Given the description of an element on the screen output the (x, y) to click on. 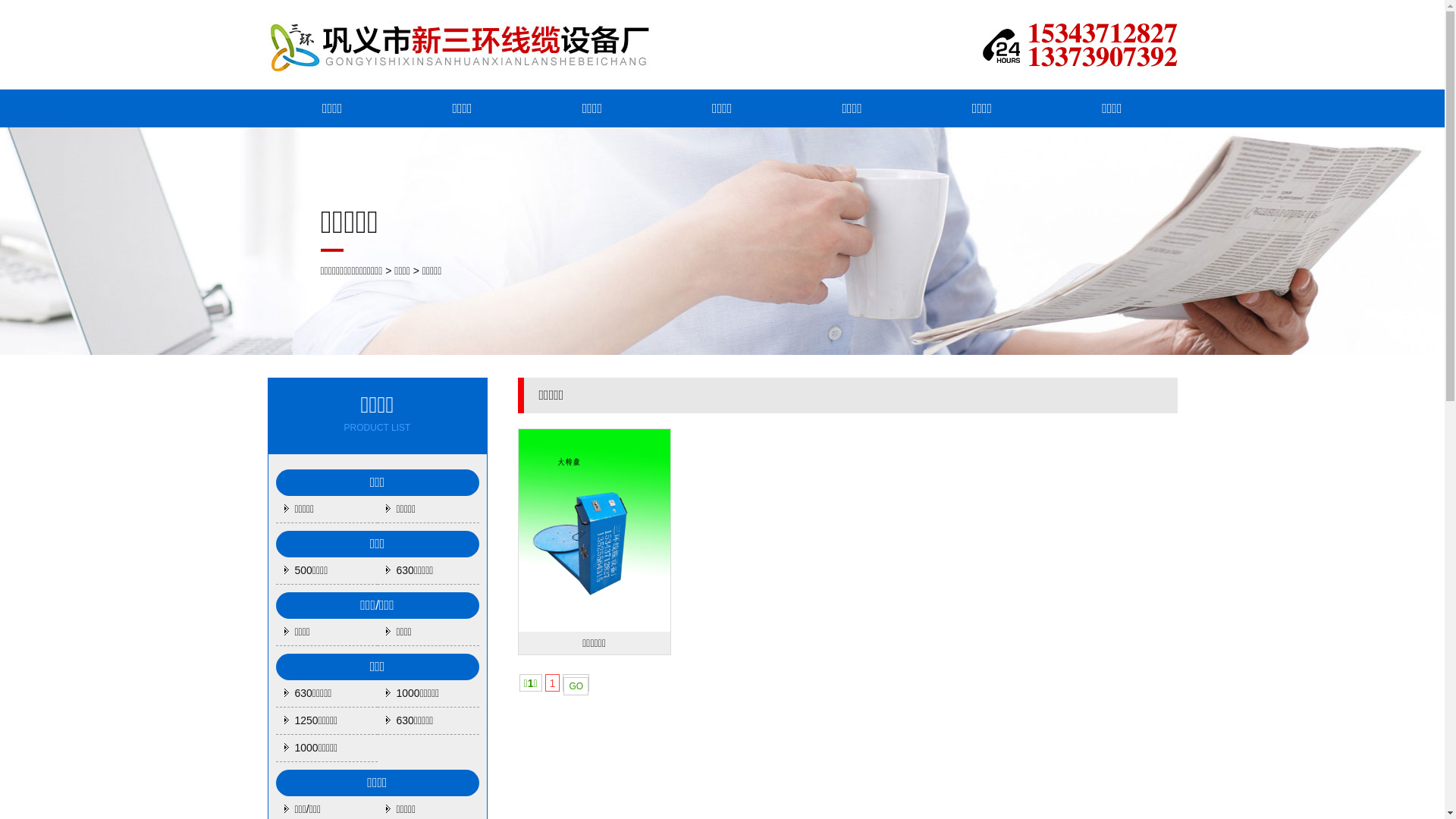
GO Element type: text (575, 686)
1 Element type: text (552, 682)
